Given the description of an element on the screen output the (x, y) to click on. 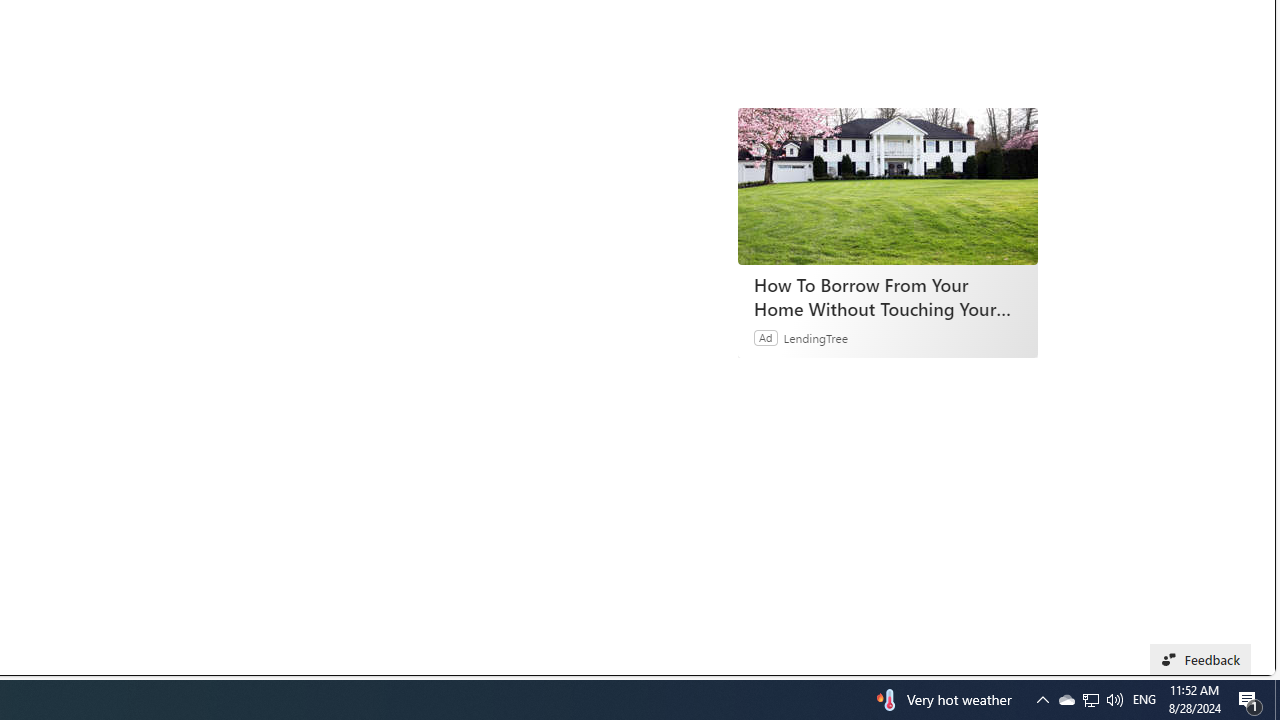
How To Borrow From Your Home Without Touching Your Mortgage (887, 296)
LendingTree (815, 337)
How To Borrow From Your Home Without Touching Your Mortgage (888, 186)
